Given the description of an element on the screen output the (x, y) to click on. 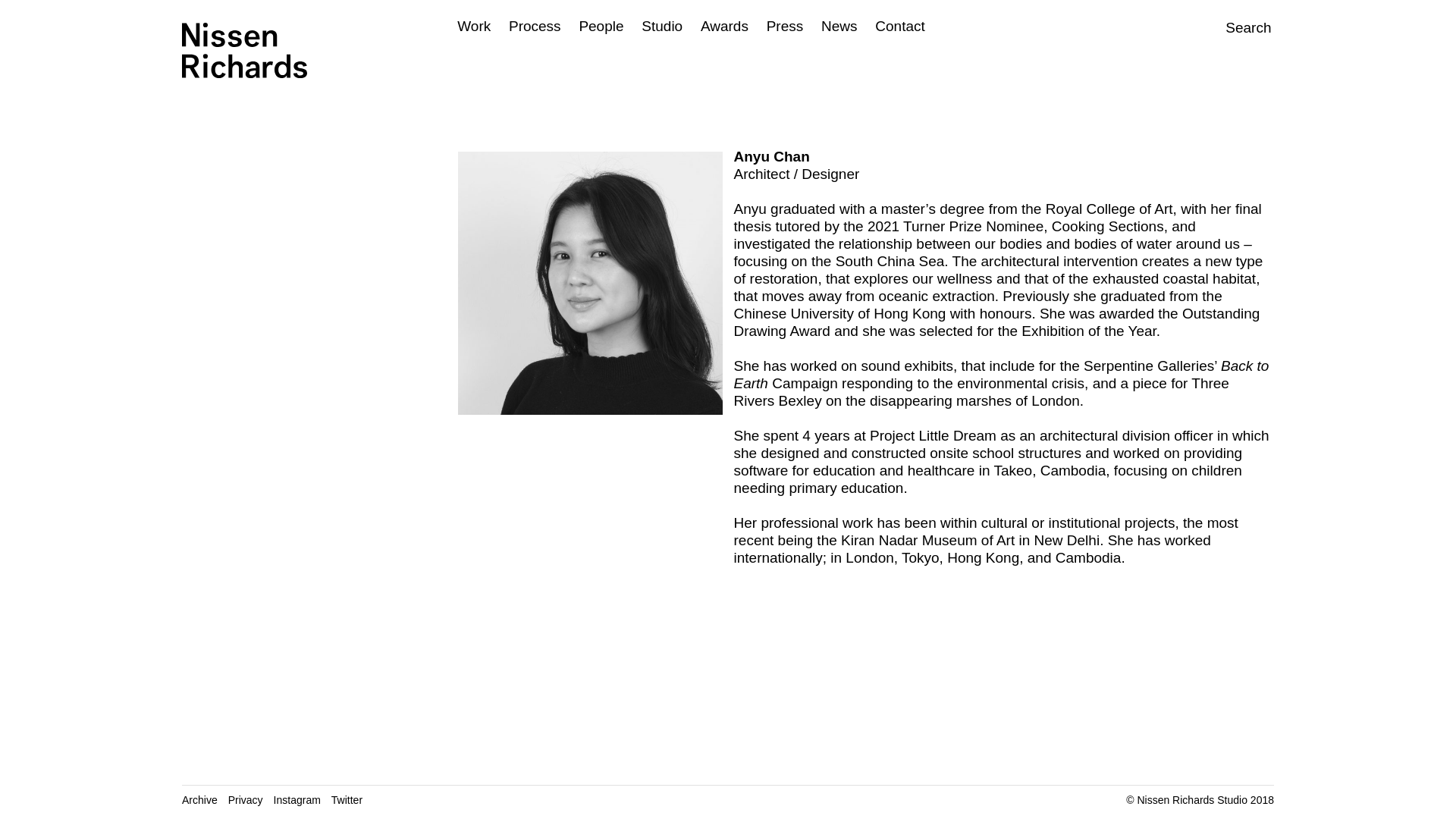
Process (534, 26)
Archive (205, 799)
News (839, 26)
Search (1217, 27)
Search For: (1217, 26)
People (600, 26)
Studio (662, 26)
Contact (899, 26)
Press (785, 26)
Search (1217, 27)
Twitter (351, 799)
Work (473, 26)
Awards (724, 26)
